Given the description of an element on the screen output the (x, y) to click on. 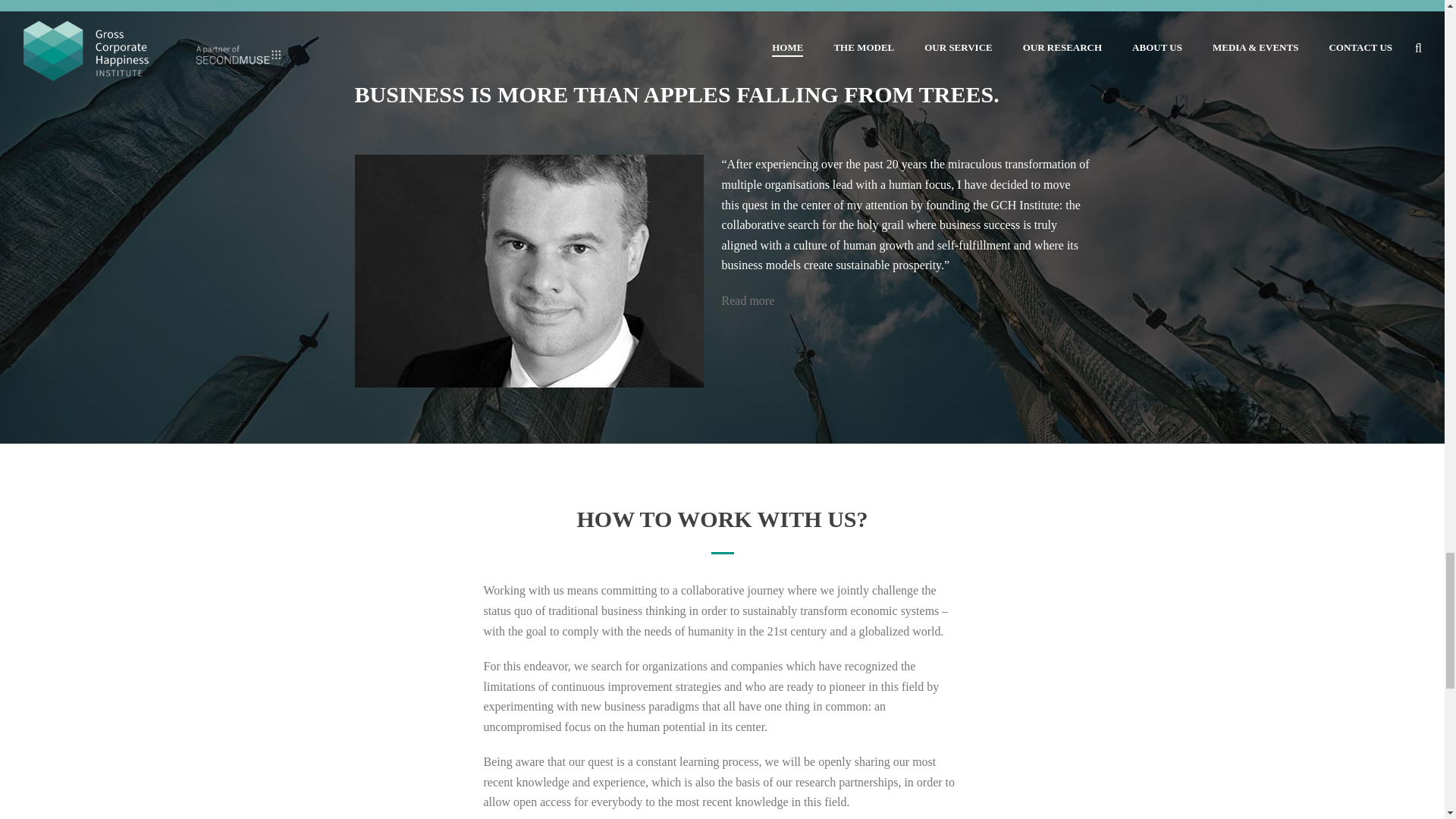
Read more (748, 300)
About Us (748, 300)
